Given the description of an element on the screen output the (x, y) to click on. 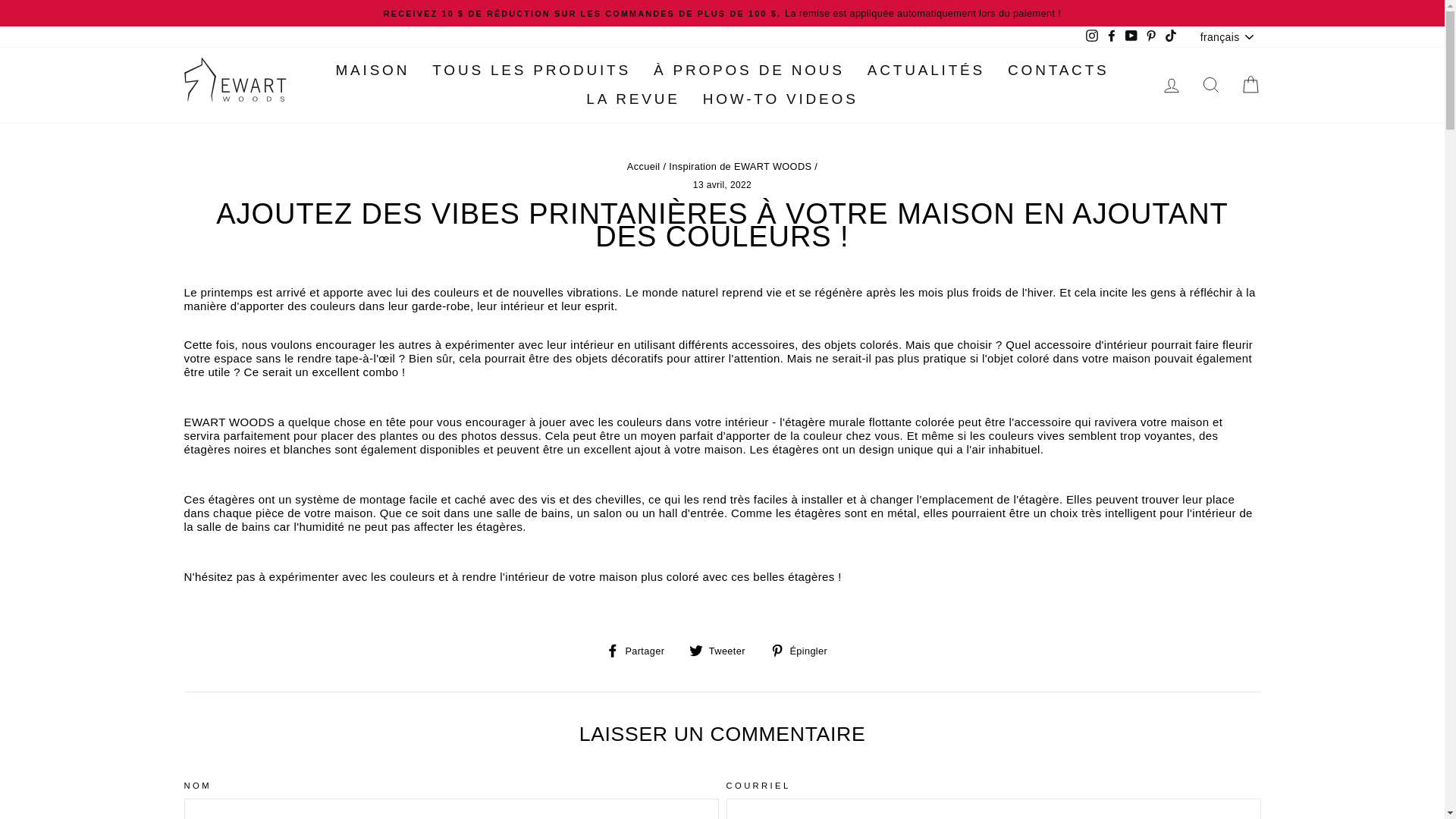
EWART WOODS Design sur Facebook (1111, 37)
EWART WOODS Design sur TikTok (1170, 37)
Tweeter sur Twitter (722, 649)
EWART WOODS Design sur Instagram (1091, 37)
EWART WOODS Design sur YouTube (1131, 37)
Partager sur Facebook (640, 649)
EWART WOODS Design sur Pinterest (1150, 37)
